Given the description of an element on the screen output the (x, y) to click on. 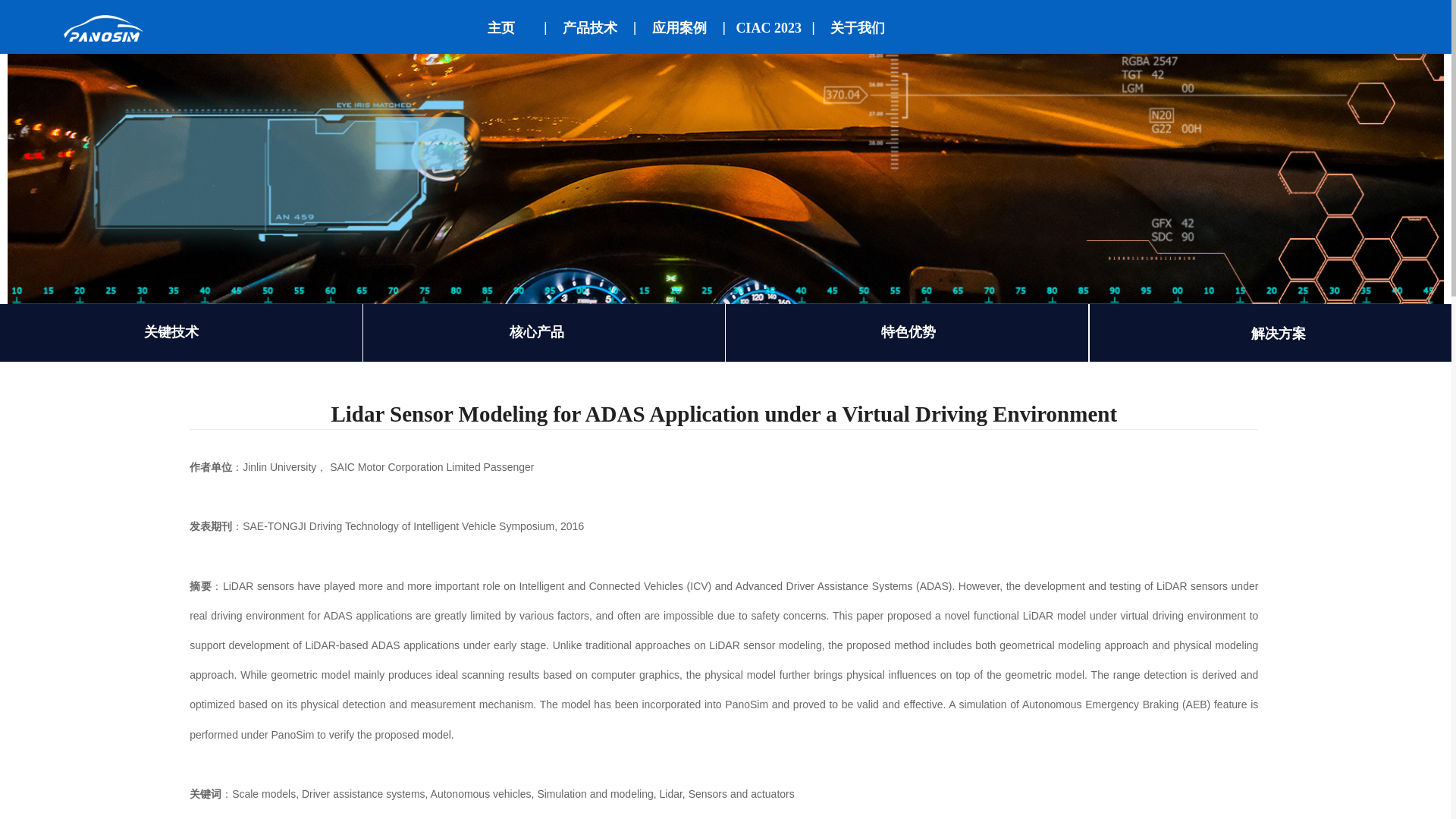
Empower Autonomous Driving (103, 28)
CIAC 2023 (768, 27)
Empower Autonomous Driving (235, 39)
